Given the description of an element on the screen output the (x, y) to click on. 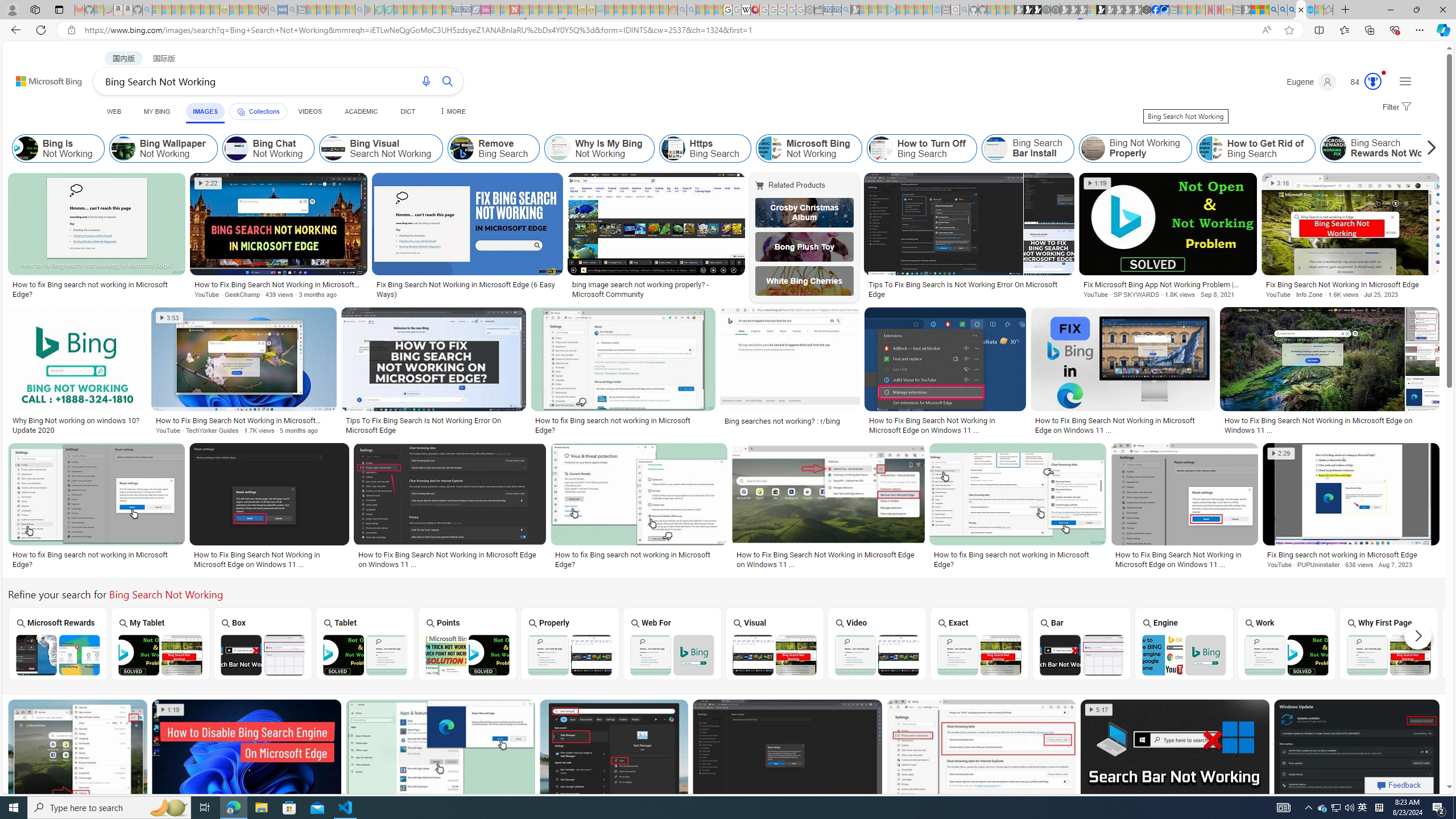
Bing Search Not Working Properly Properly (569, 643)
Exact (978, 643)
DICT (407, 111)
MORE (451, 111)
Image result for Bing Search Not Working (1356, 751)
Web For (671, 643)
Box (262, 643)
